Given the description of an element on the screen output the (x, y) to click on. 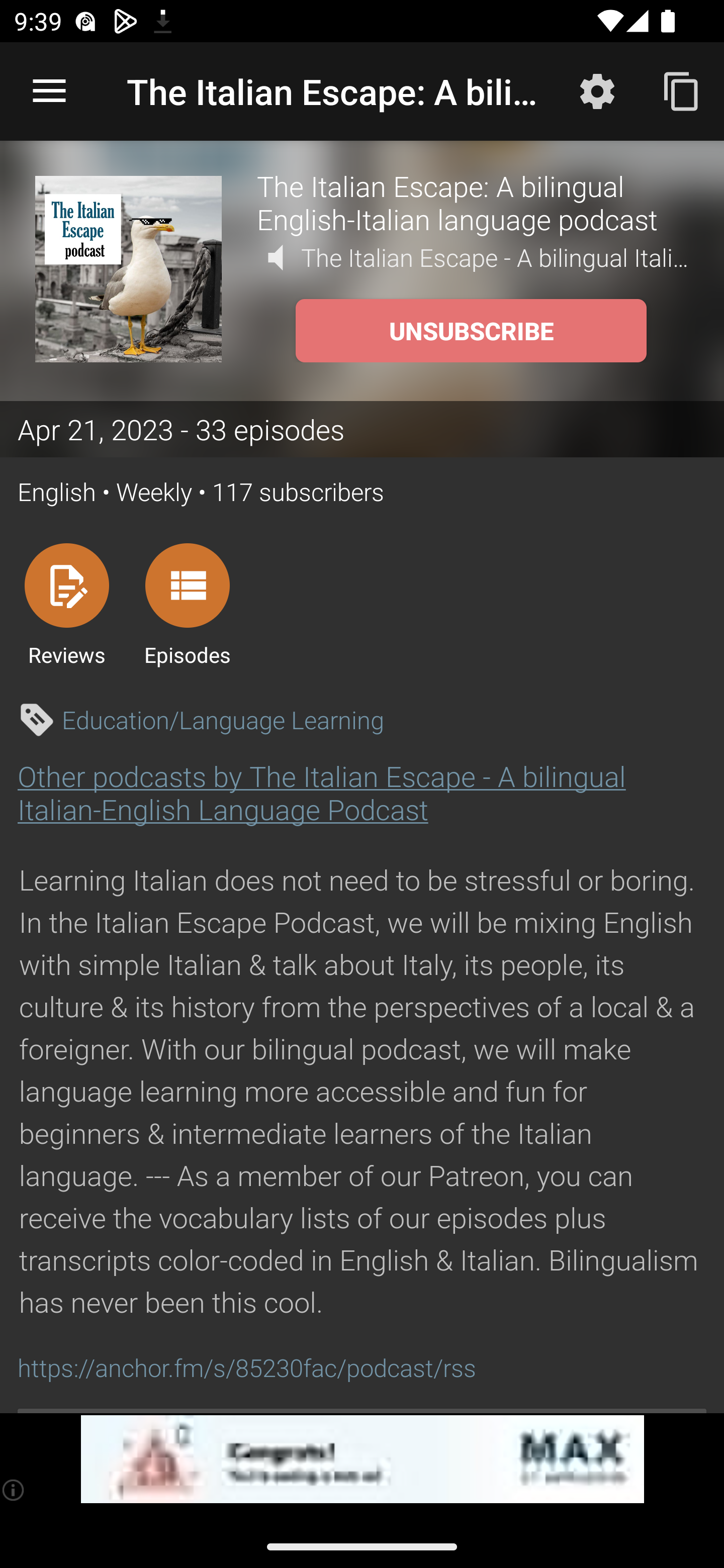
Open navigation sidebar (49, 91)
Settings (597, 90)
Copy feed url to clipboard (681, 90)
UNSUBSCRIBE (470, 330)
Reviews (66, 604)
Episodes (187, 604)
app-monetization (362, 1459)
(i) (14, 1489)
